Given the description of an element on the screen output the (x, y) to click on. 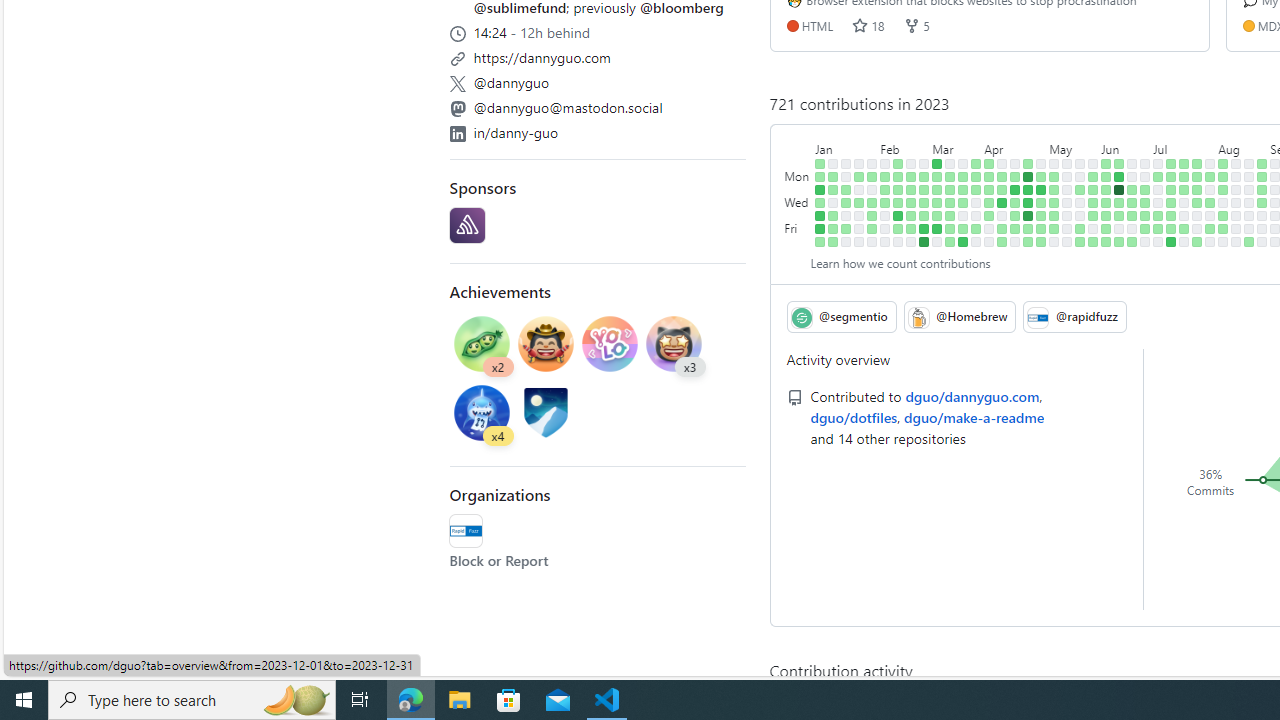
7 contributions on May 9th. (1054, 189)
8 contributions on March 26th. (976, 163)
3 contributions on August 28th. (1262, 176)
1 contribution on January 10th. (833, 189)
No contributions on January 19th. (846, 215)
@rapidfuzz (465, 530)
4 contributions on June 4th. (1106, 163)
No contributions on August 15th. (1236, 189)
Friday (797, 228)
3 contributions on March 1st. (924, 202)
7 contributions on January 4th. (820, 202)
May (1074, 145)
7 contributions on June 14th. (1119, 202)
No contributions on July 8th. (1158, 241)
Achievement: Starstruck (673, 343)
